Given the description of an element on the screen output the (x, y) to click on. 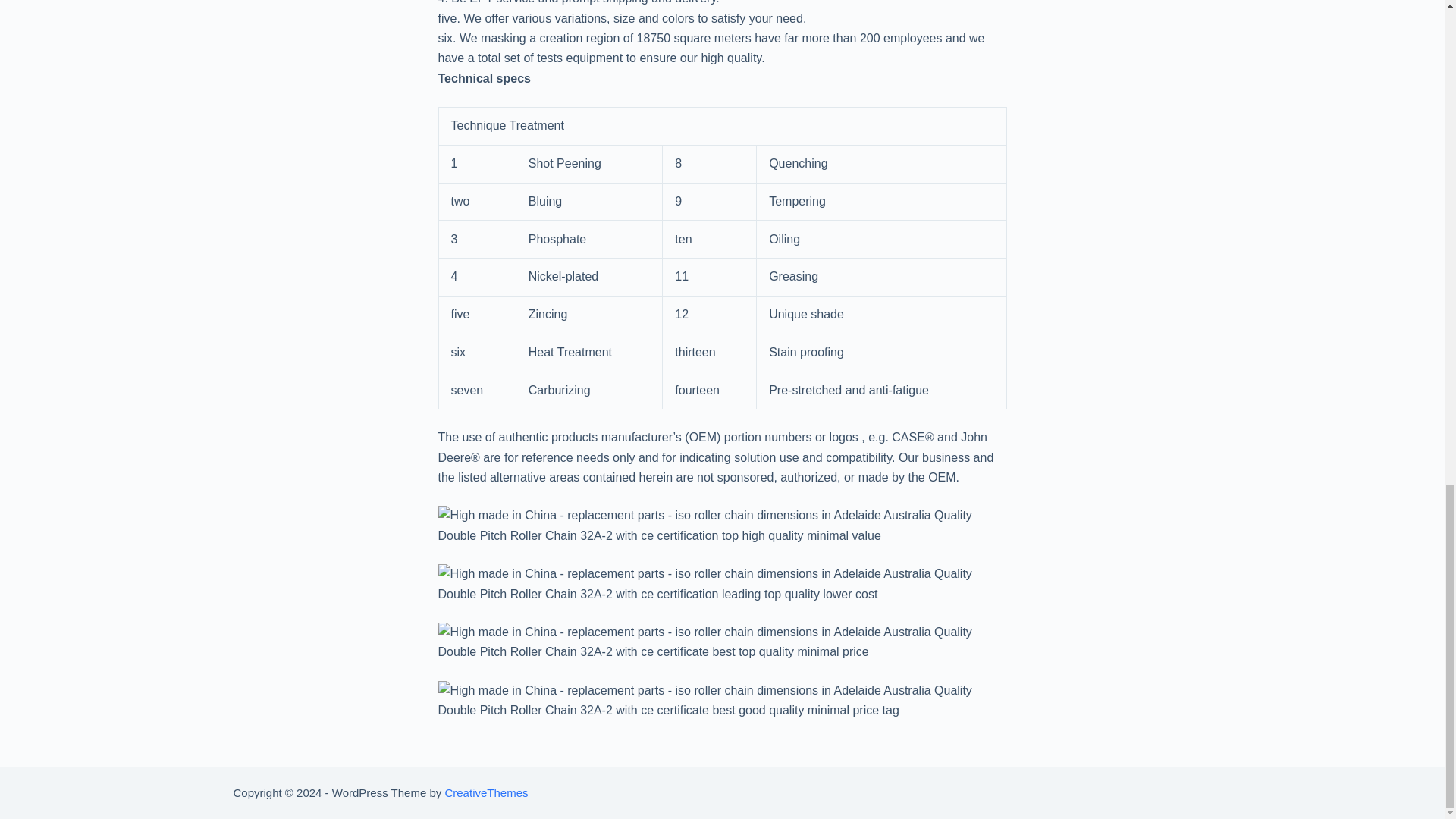
CreativeThemes (485, 792)
